Given the description of an element on the screen output the (x, y) to click on. 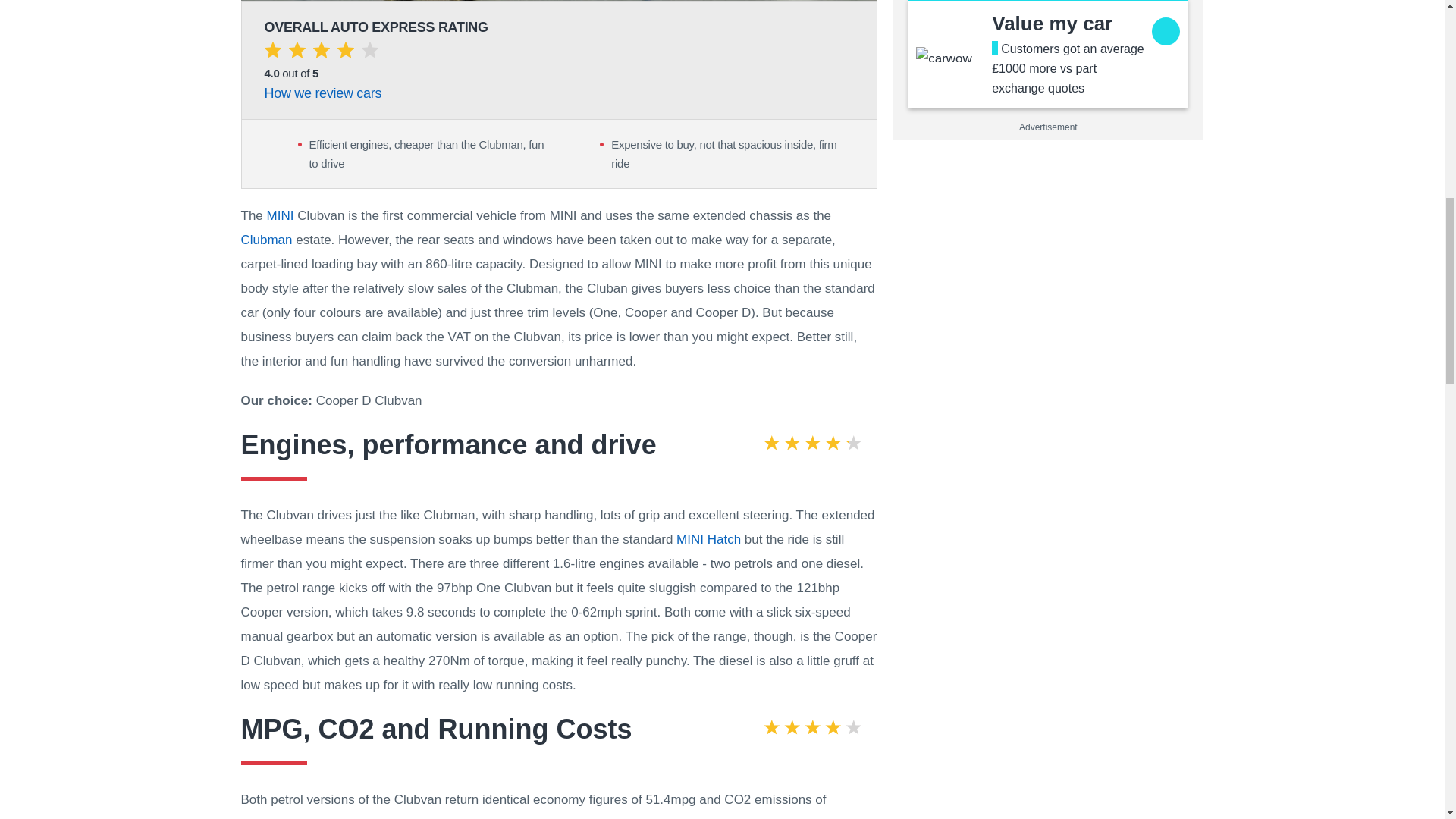
4 Stars (811, 730)
4.2 Stars (811, 445)
4 Stars (320, 52)
